Given the description of an element on the screen output the (x, y) to click on. 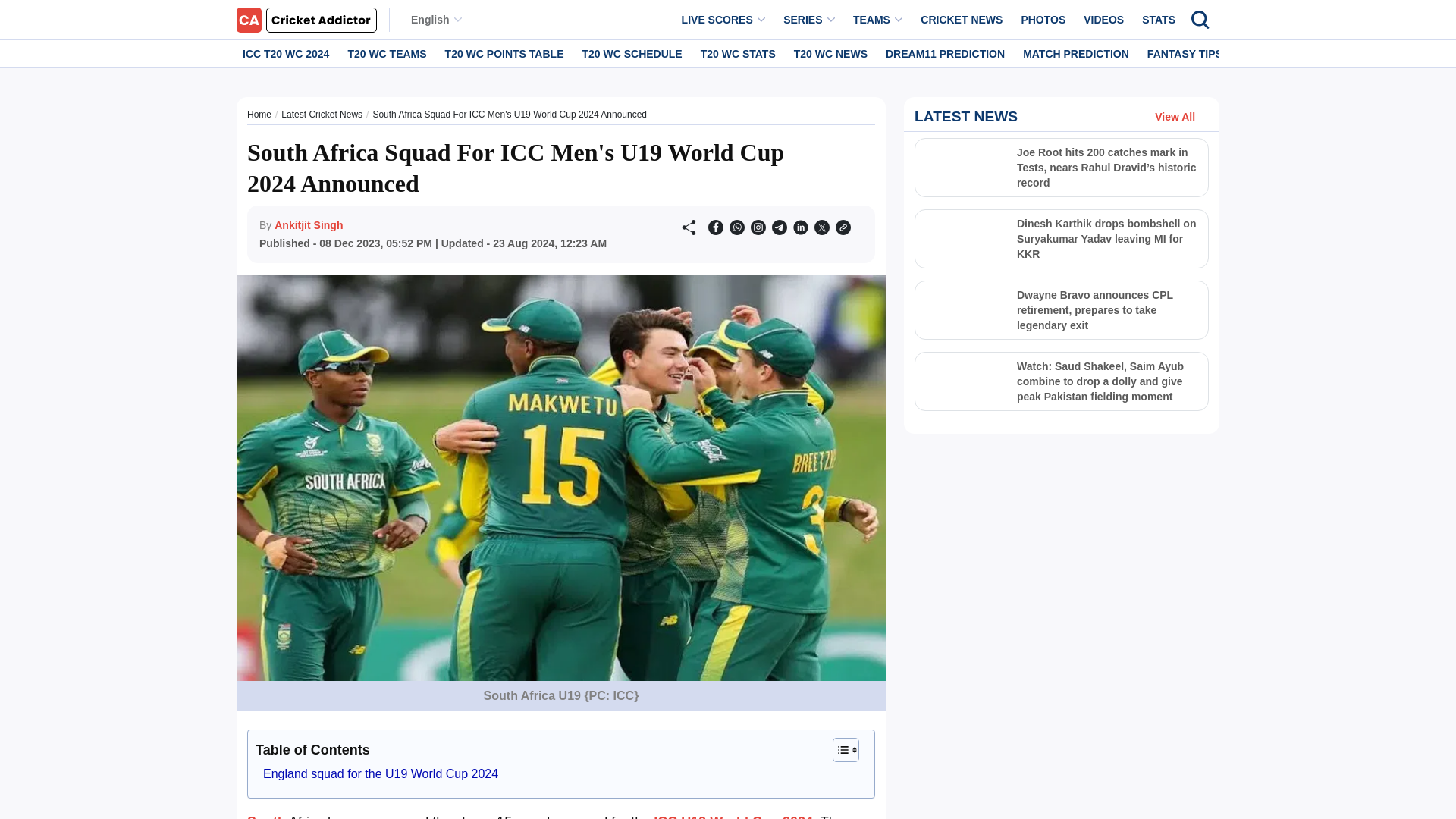
CRICKET NEWS (961, 19)
PHOTOS (1042, 19)
England squad for the U19 World Cup 2024 (380, 773)
English (435, 19)
T20 WC TEAMS (386, 53)
LIVE SCORES (723, 19)
VIDEOS (1103, 19)
ICC T20 WC 2024 (284, 53)
South (266, 816)
SERIES (809, 19)
